Given the description of an element on the screen output the (x, y) to click on. 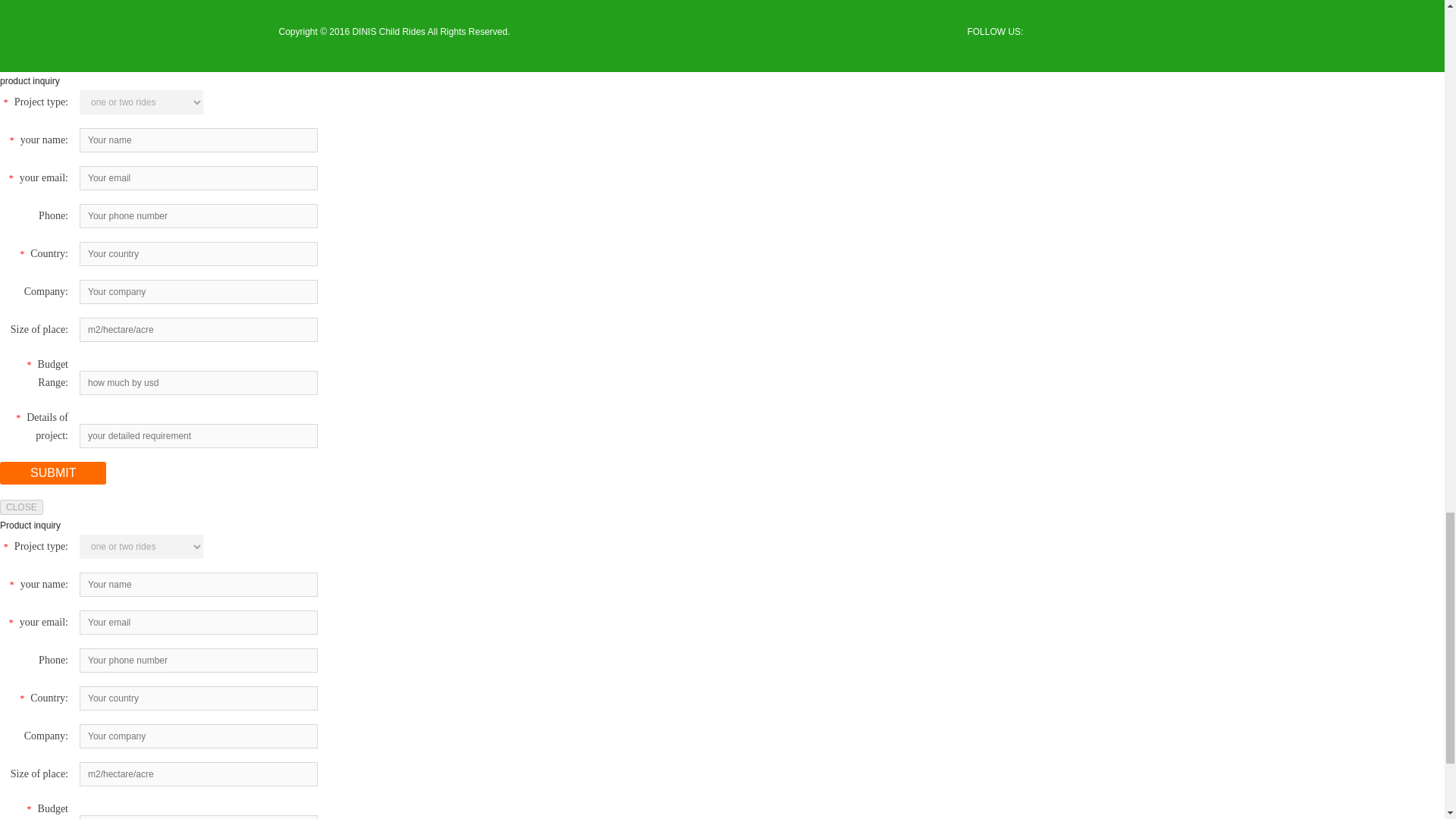
SUBMIT (53, 472)
LinkedIn (1109, 31)
Facebook (1041, 31)
YouTube (1133, 31)
Twitter (1064, 31)
Skype (1156, 31)
